Given the description of an element on the screen output the (x, y) to click on. 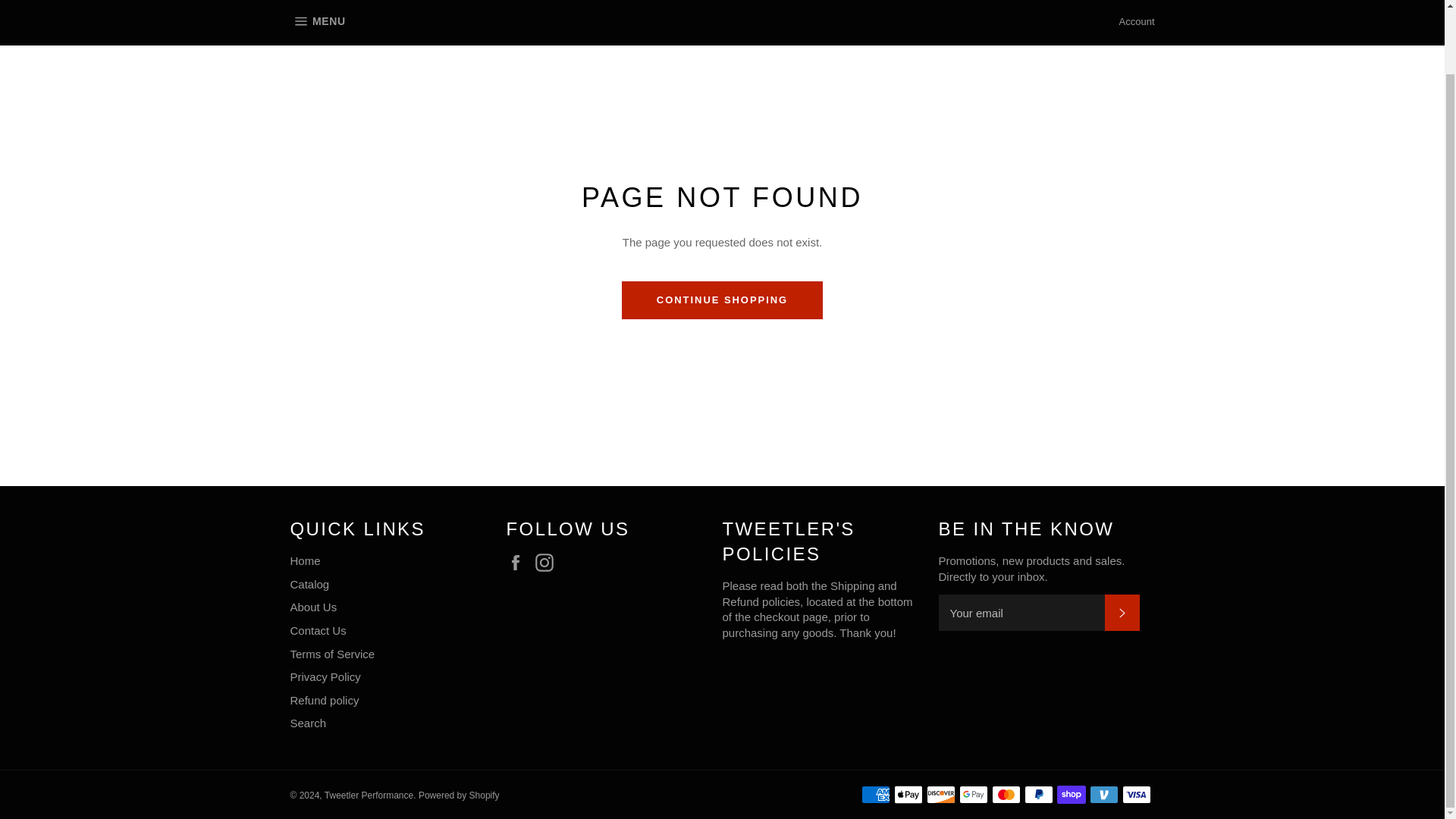
Search (307, 722)
Account (1136, 22)
Privacy Policy (324, 676)
Facebook (519, 562)
Catalog (309, 584)
Contact Us (317, 630)
Tweetler Performance on Instagram (547, 562)
About Us (317, 22)
CONTINUE SHOPPING (312, 606)
